Given the description of an element on the screen output the (x, y) to click on. 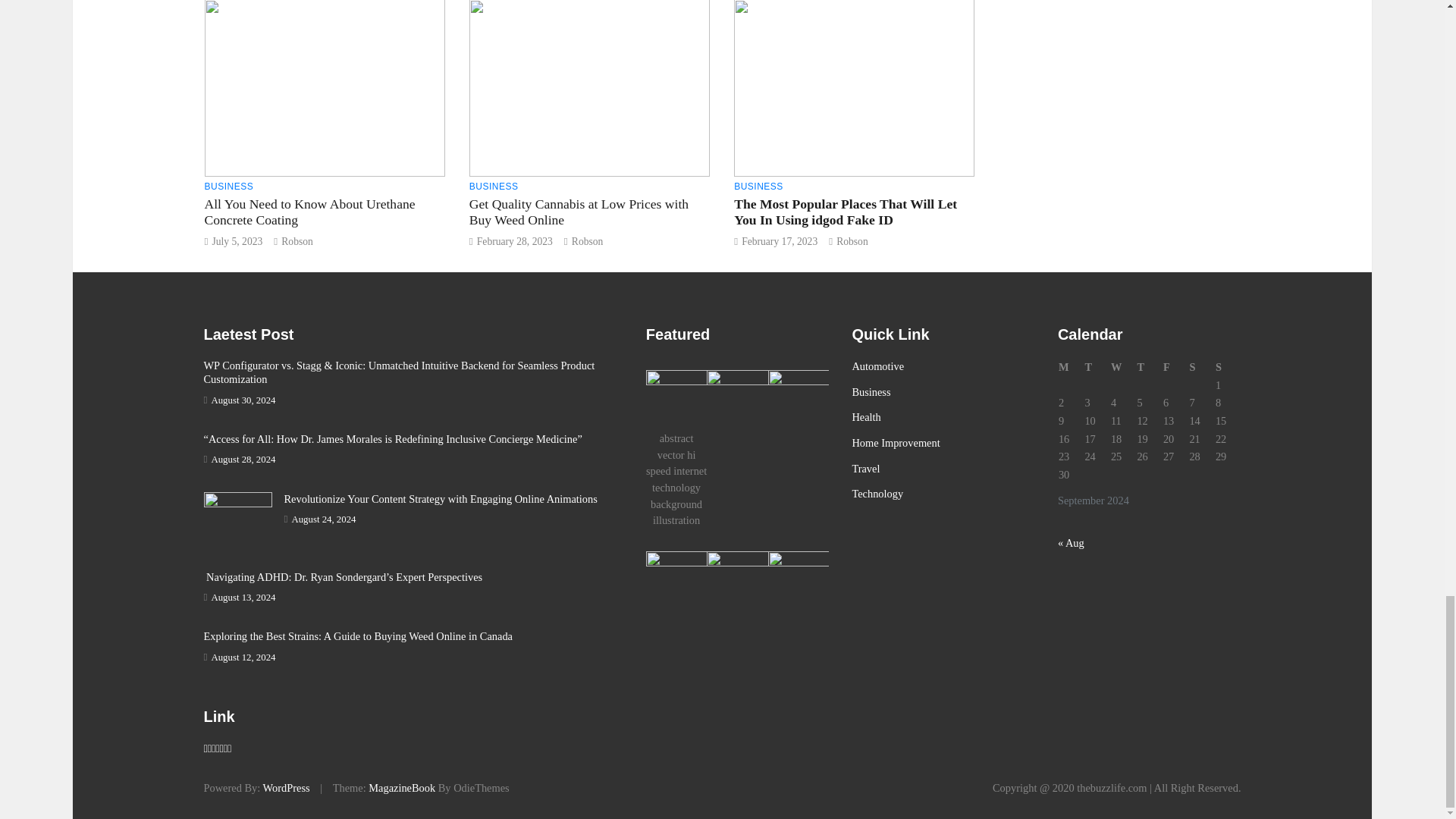
Sunday (1227, 367)
Saturday (1201, 367)
Robson (588, 241)
BUSINESS (493, 186)
Monday (1071, 367)
Thursday (1148, 367)
Wednesday (1123, 367)
Robson (297, 241)
Friday (1175, 367)
